Given the description of an element on the screen output the (x, y) to click on. 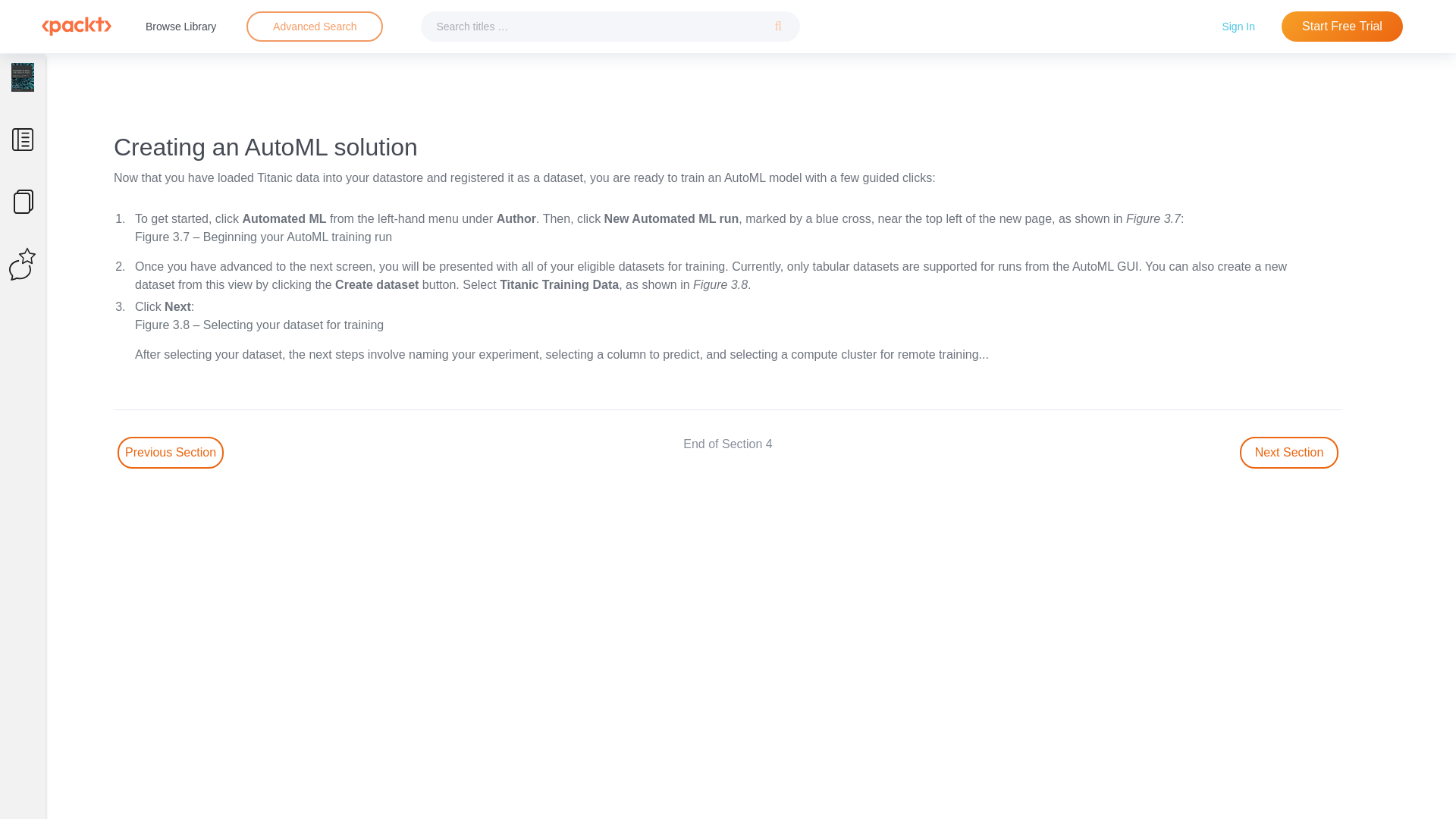
Go to Previous section (170, 452)
Browse Library (180, 26)
Sign In (1238, 26)
Advanced Search (314, 26)
Start Free Trial (1342, 26)
Go to next section (1289, 452)
Advanced Search (315, 26)
Advanced search (314, 26)
